Given the description of an element on the screen output the (x, y) to click on. 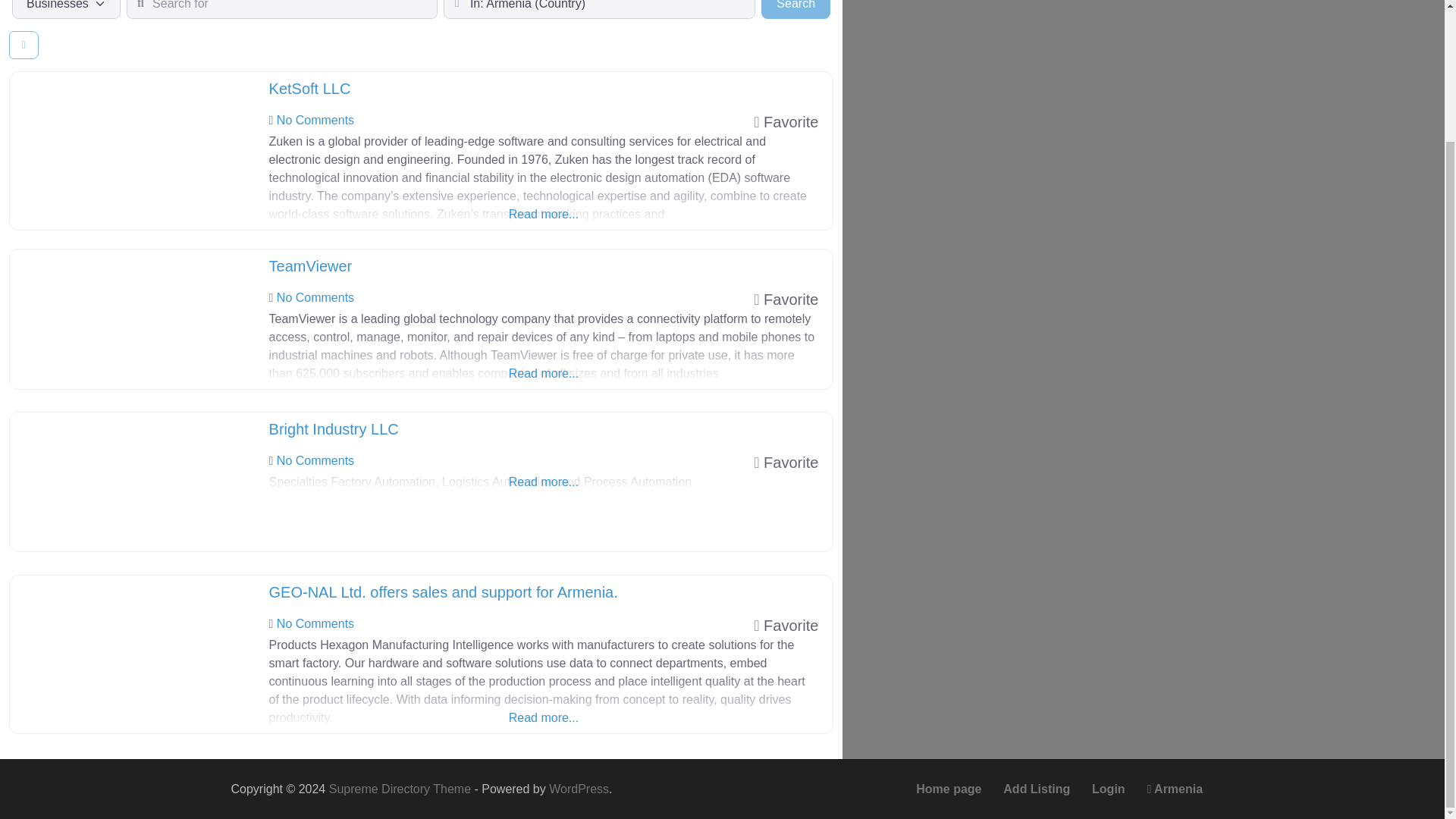
WordPress (578, 788)
View: GEO-NAL Ltd. offers sales and support for Armenia. (443, 591)
Add to Favorites (786, 625)
Add to Favorites (786, 121)
No Comments (314, 460)
Read more... (543, 355)
WordPress (578, 788)
KetSoft LLC (309, 88)
No Comments (314, 119)
View: TeamViewer (310, 265)
No Comments (314, 623)
Login (795, 9)
Supreme Directory Theme (1108, 789)
Supreme Directory (401, 788)
